Given the description of an element on the screen output the (x, y) to click on. 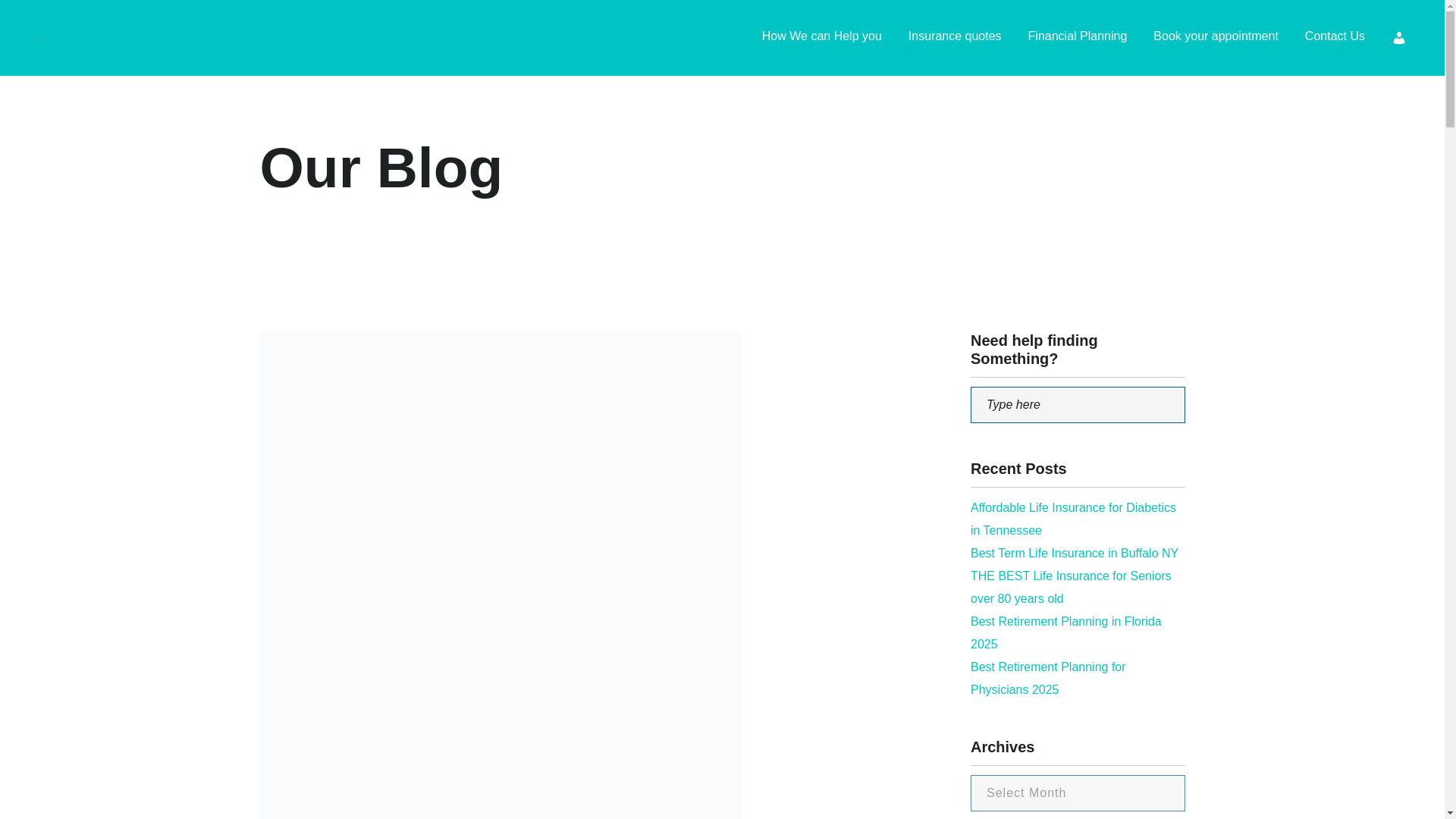
Insurance quotes (954, 38)
Contact Us (1334, 38)
How We can Help you (821, 38)
Book your appointment (1215, 38)
Financial Planning (1076, 38)
